Given the description of an element on the screen output the (x, y) to click on. 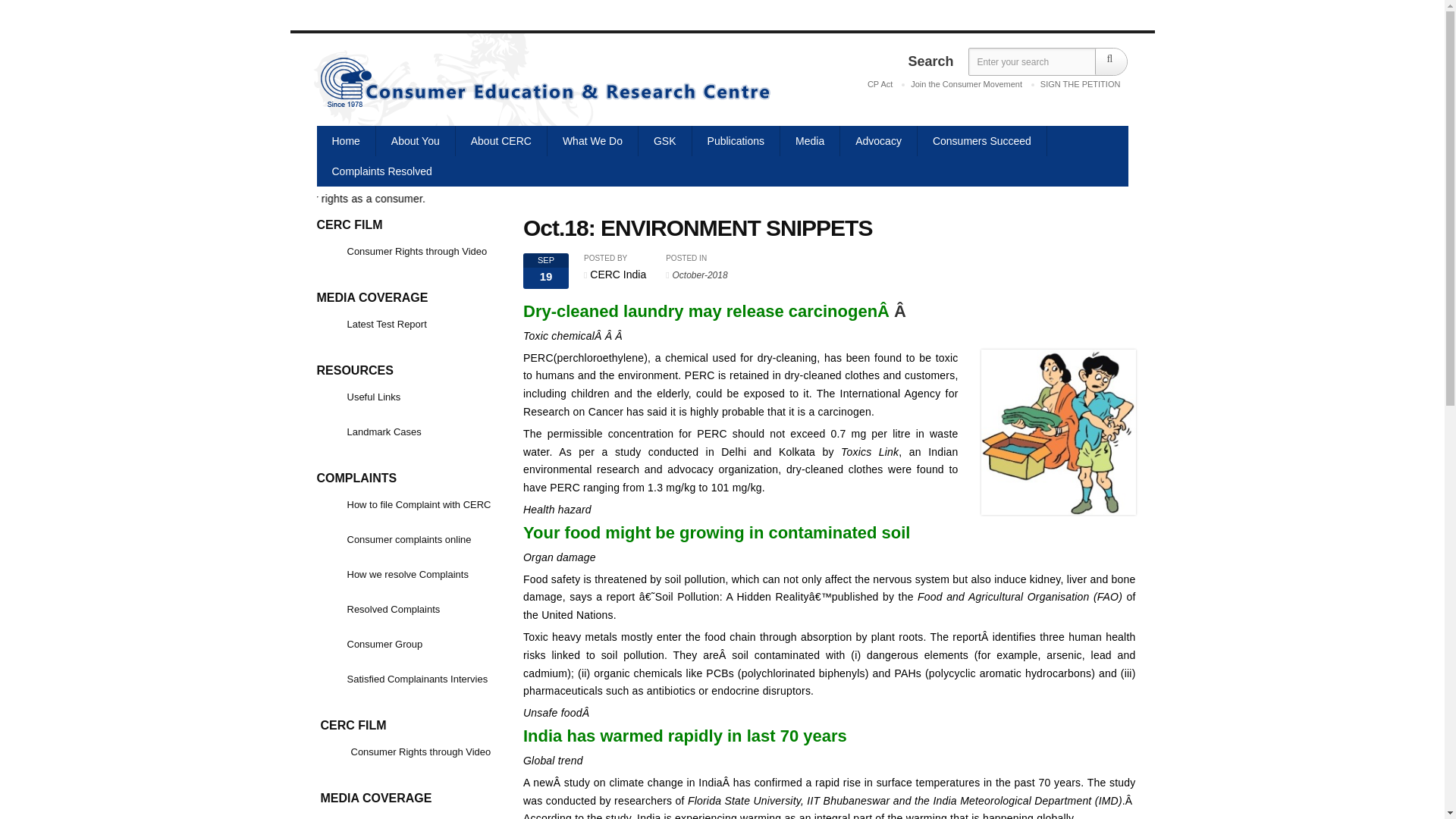
What We Do (593, 141)
About You (415, 141)
GSK (666, 141)
Join the Consumer Movement (965, 85)
Home (346, 141)
CP Act (879, 85)
SIGN THE PETITION (1080, 85)
Publications (736, 141)
About CERC (501, 141)
